Given the description of an element on the screen output the (x, y) to click on. 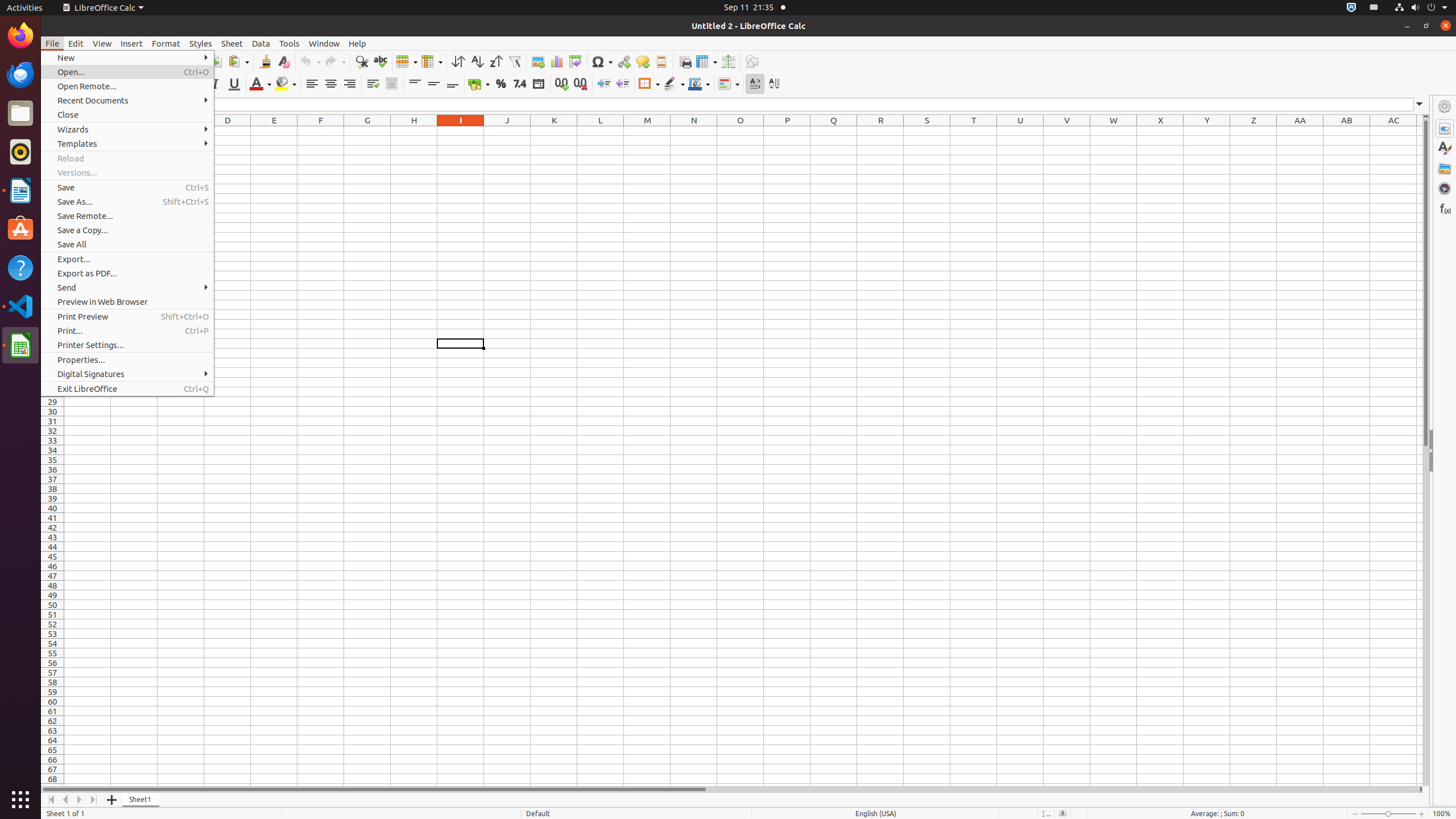
Chart Element type: push-button (556, 61)
Activities Element type: label (24, 7)
AB1 Element type: table-cell (1346, 130)
Preview in Web Browser Element type: menu-item (126, 301)
Paste Element type: push-button (237, 61)
